Given the description of an element on the screen output the (x, y) to click on. 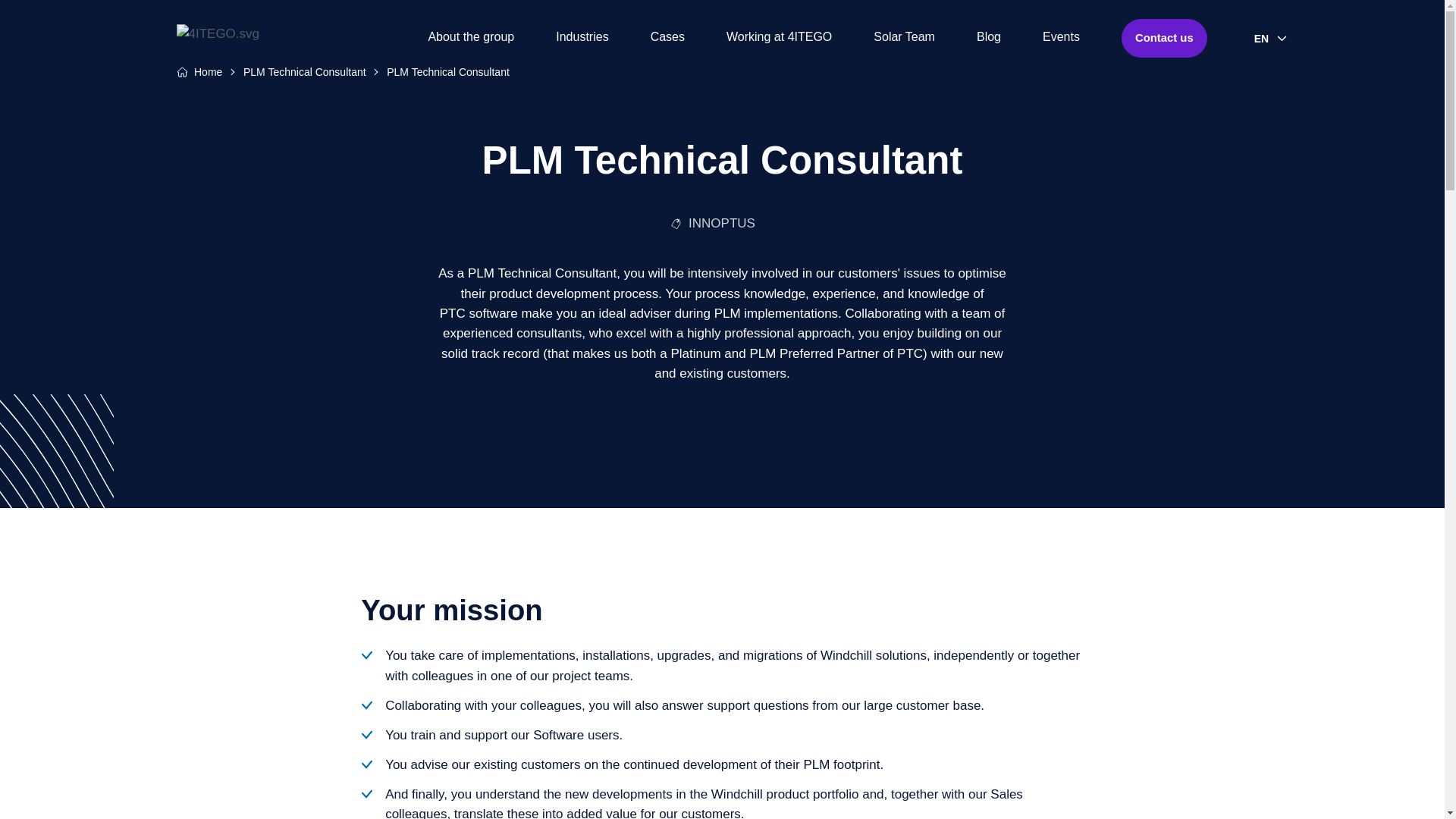
Events (1061, 38)
Blog (988, 38)
Solar Team (903, 38)
Working at 4ITEGO (778, 38)
Cases (667, 38)
Home (207, 71)
PLM Technical Consultant (304, 71)
Industries (582, 38)
About the group (470, 38)
Contact us (1164, 37)
